Given the description of an element on the screen output the (x, y) to click on. 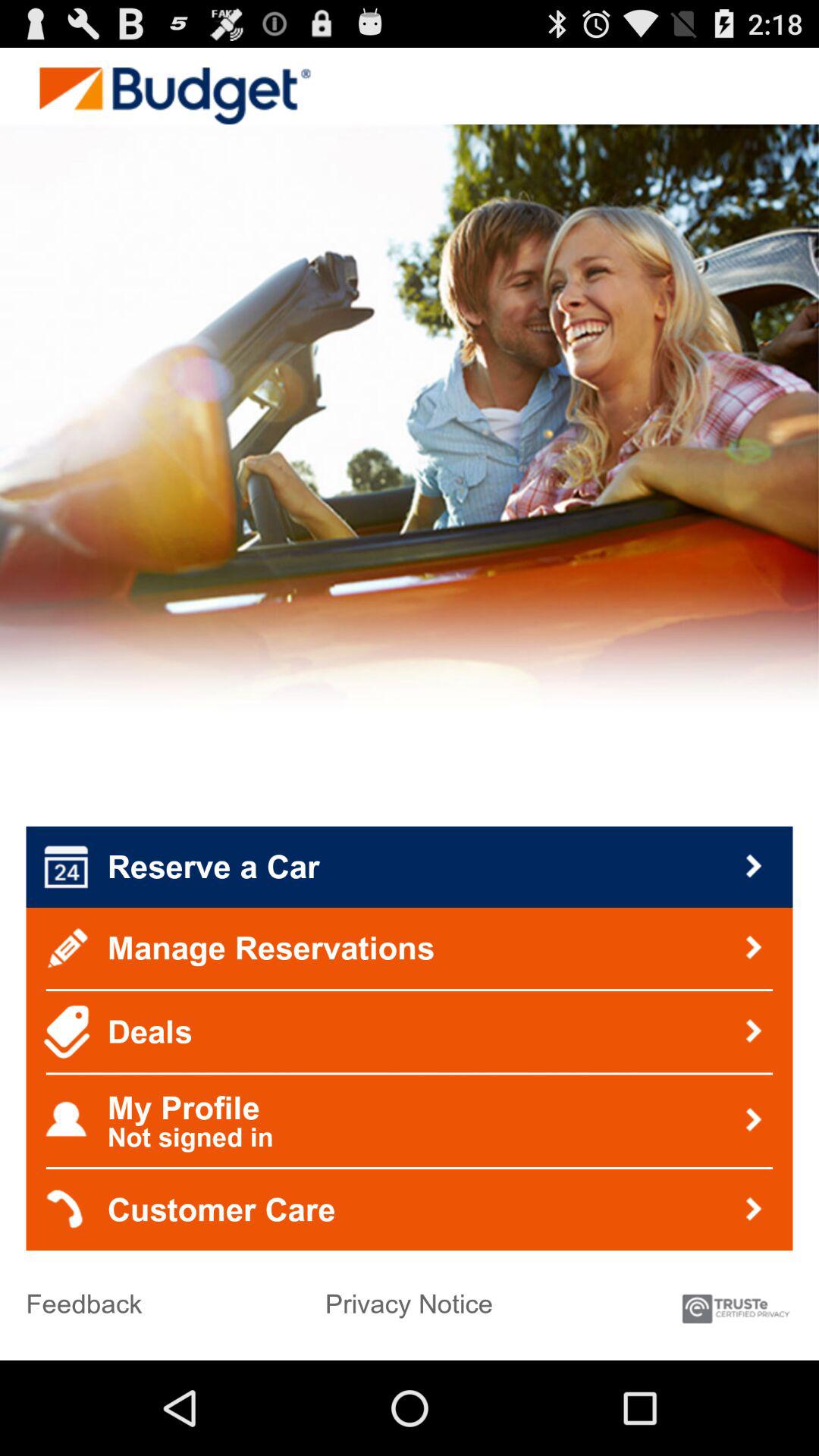
press the icon at the bottom right corner (734, 1301)
